Given the description of an element on the screen output the (x, y) to click on. 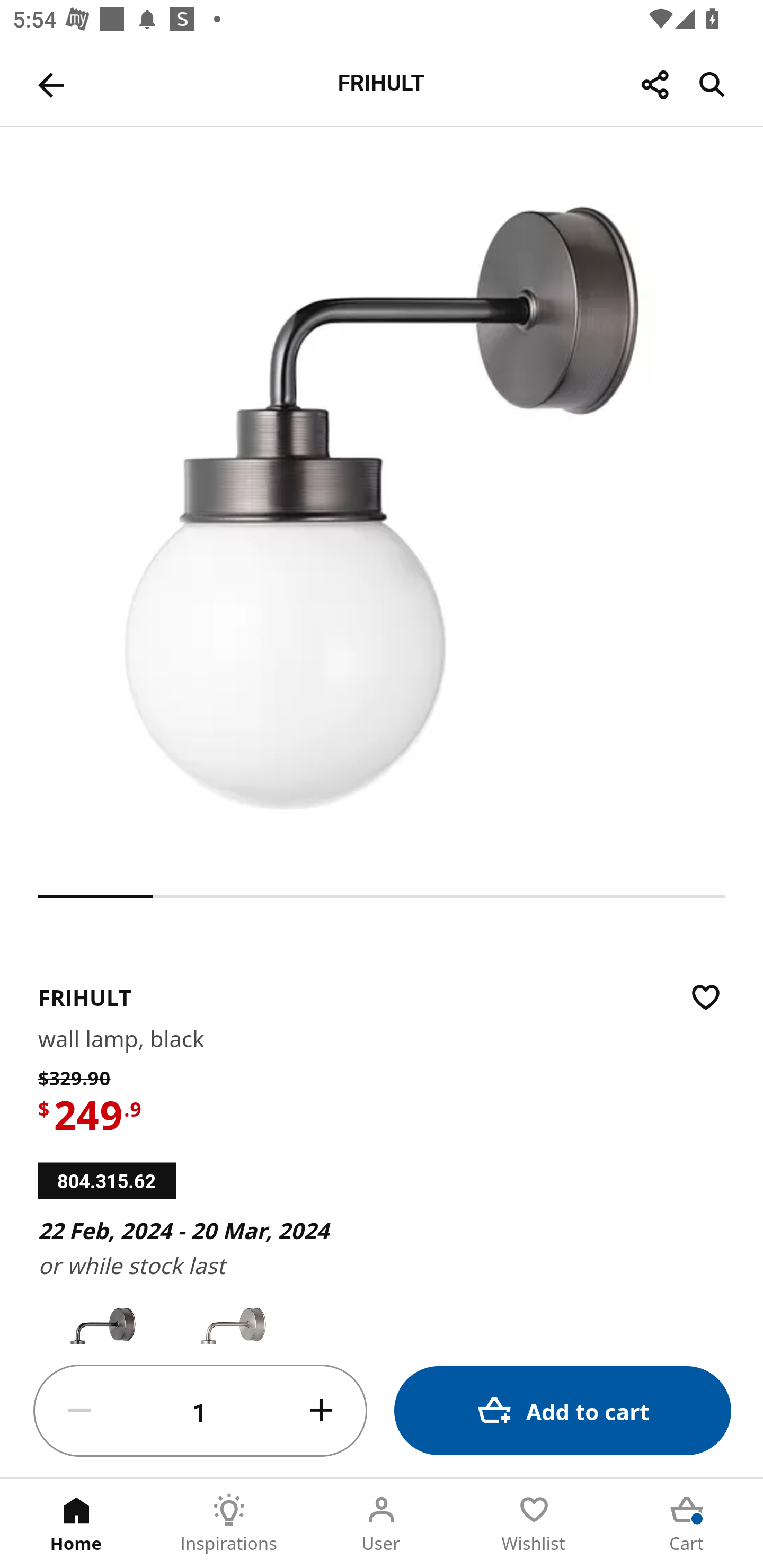
Add to cart (562, 1410)
1 (200, 1411)
Home
Tab 1 of 5 (76, 1522)
Inspirations
Tab 2 of 5 (228, 1522)
User
Tab 3 of 5 (381, 1522)
Wishlist
Tab 4 of 5 (533, 1522)
Cart
Tab 5 of 5 (686, 1522)
